Given the description of an element on the screen output the (x, y) to click on. 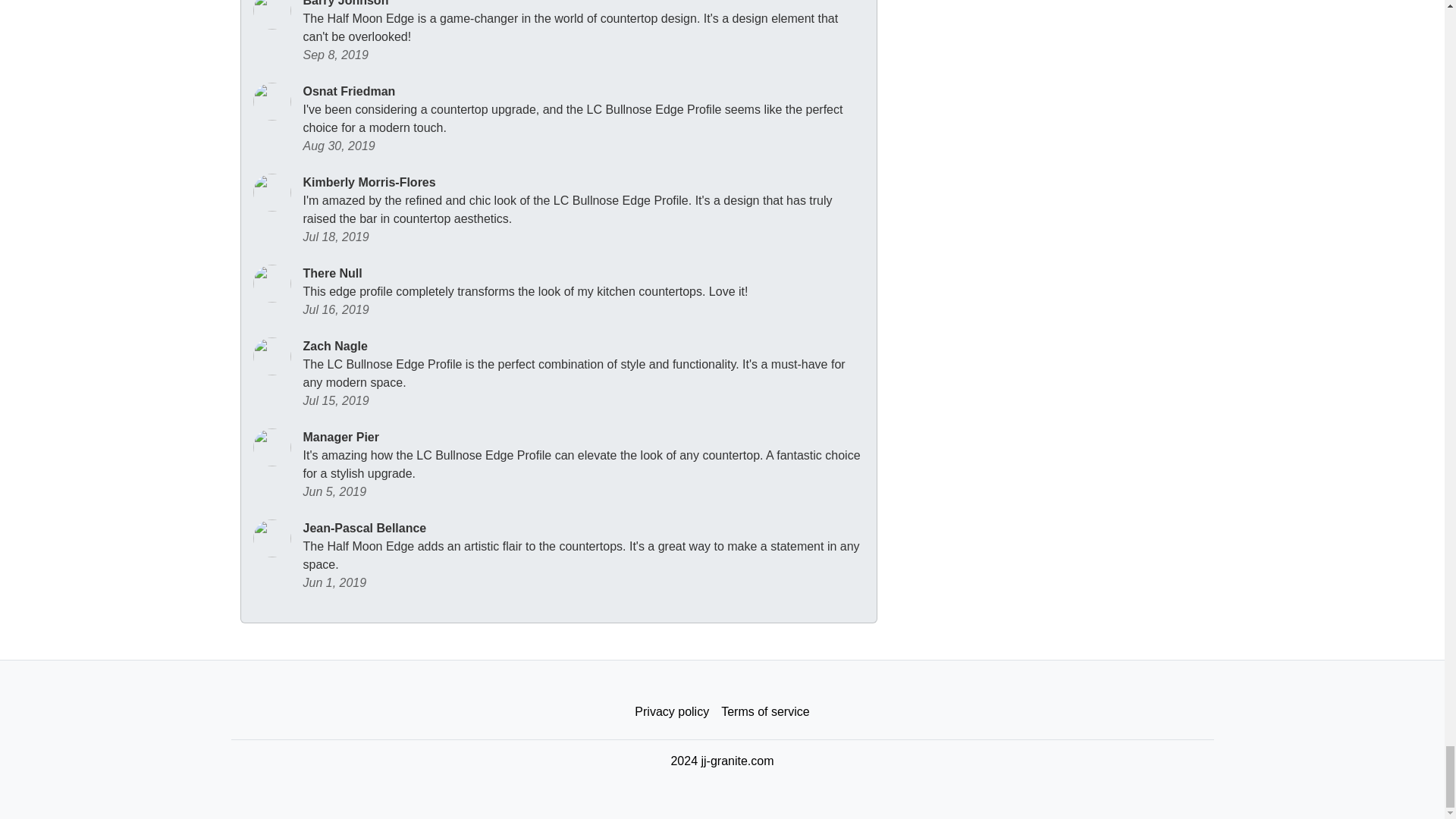
Terms of service (764, 711)
Privacy policy (671, 711)
